Given the description of an element on the screen output the (x, y) to click on. 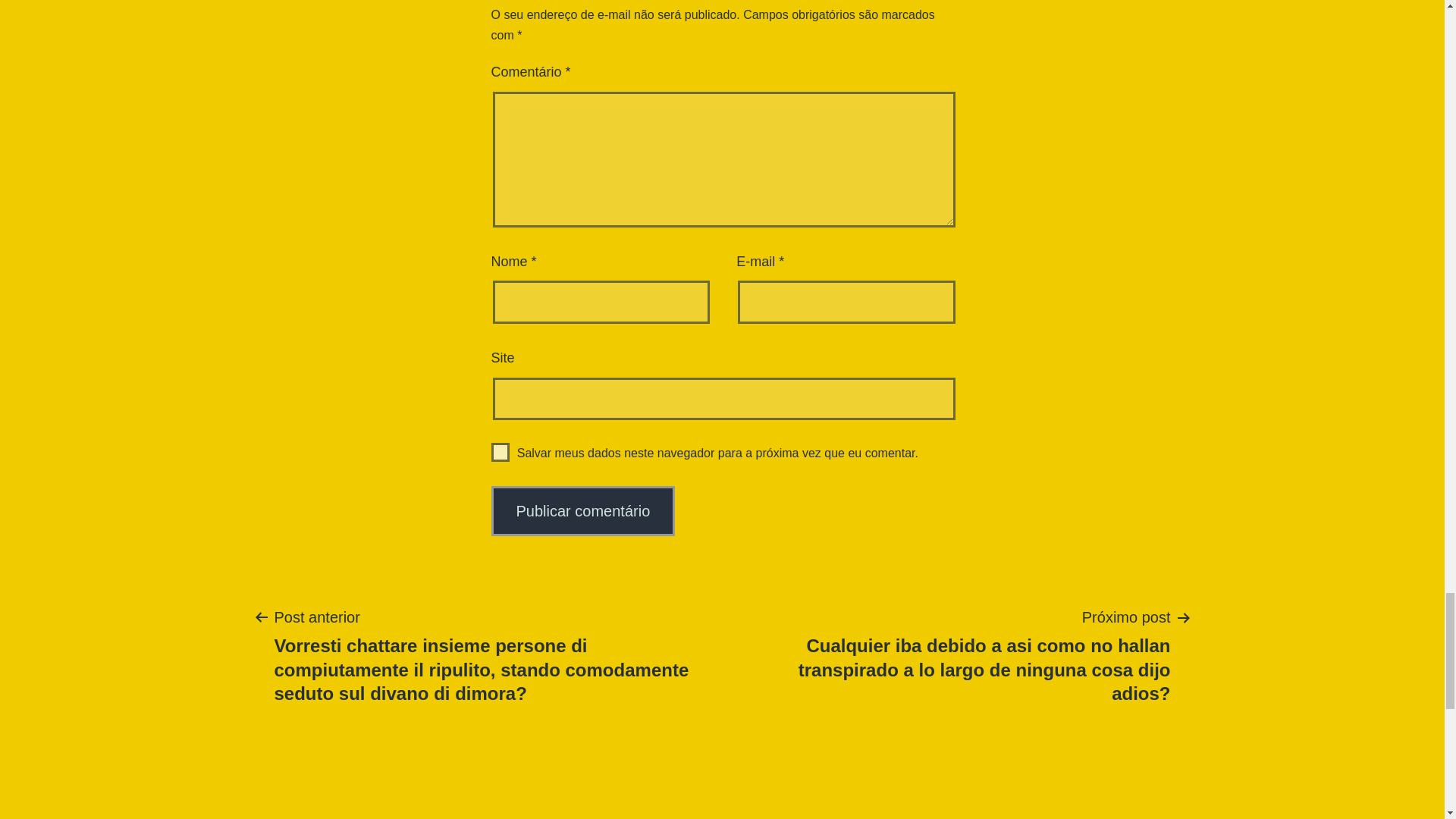
yes (500, 452)
